Given the description of an element on the screen output the (x, y) to click on. 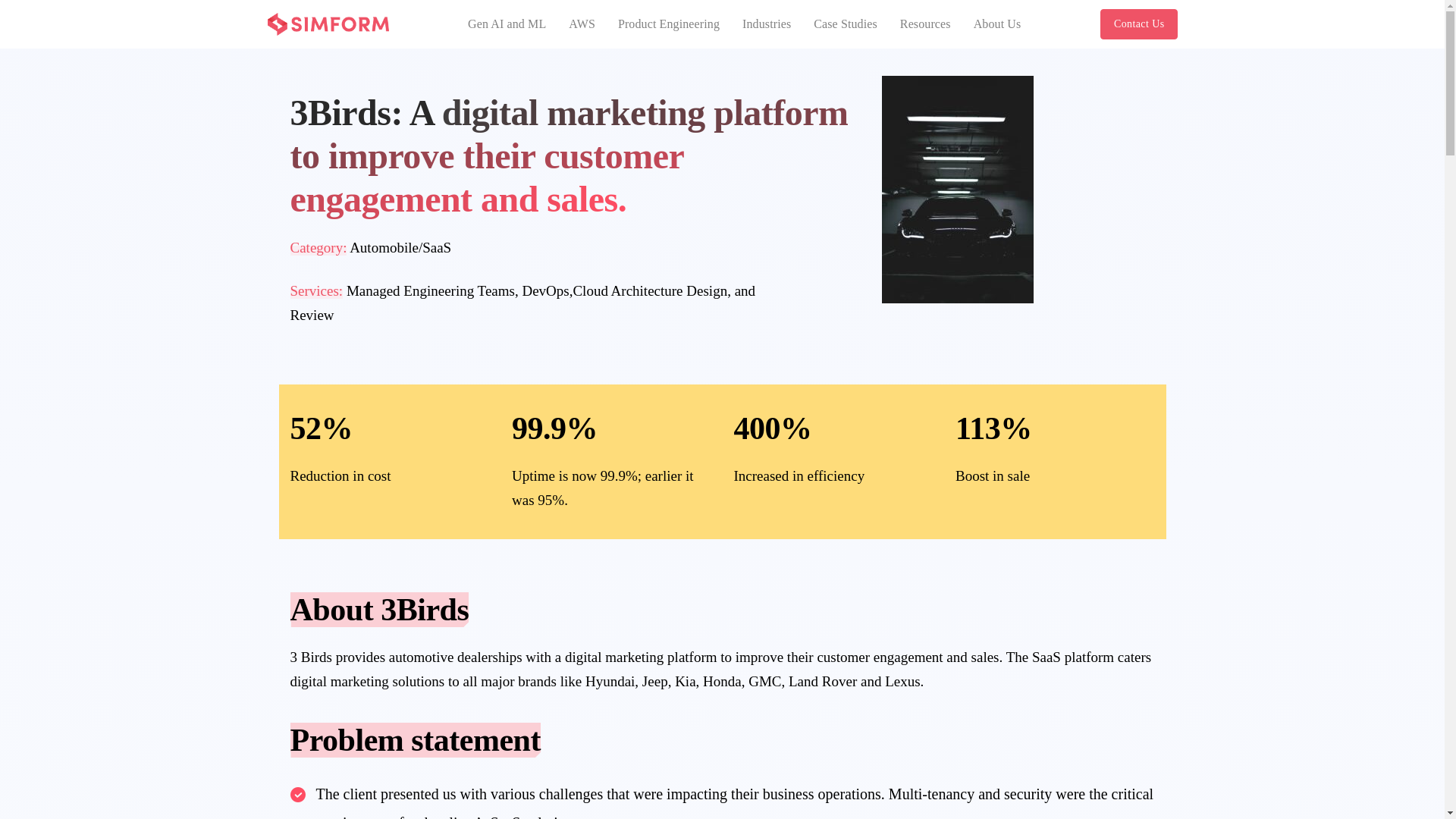
Resources (924, 23)
Product Engineering (668, 23)
Gen AI and ML (506, 23)
AWS (582, 23)
Case Studies (845, 23)
Contact Us (1138, 24)
Industries (766, 23)
About Us (998, 23)
